Given the description of an element on the screen output the (x, y) to click on. 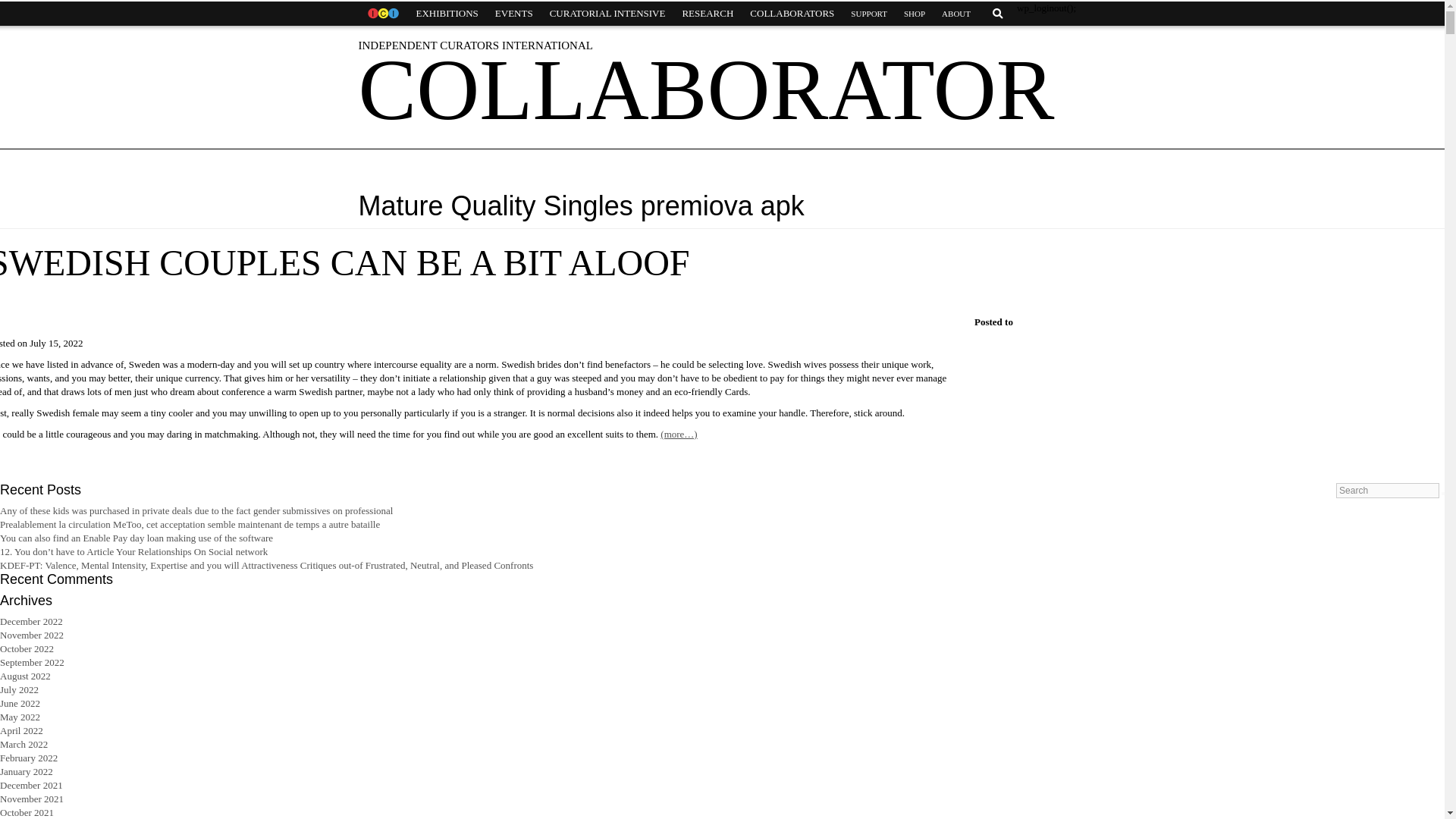
COLLABORATORS (792, 13)
EVENTS (513, 13)
RESEARCH (706, 13)
CURATORIAL INTENSIVE (607, 13)
HOME (382, 13)
EXHIBITIONS (446, 13)
